Given the description of an element on the screen output the (x, y) to click on. 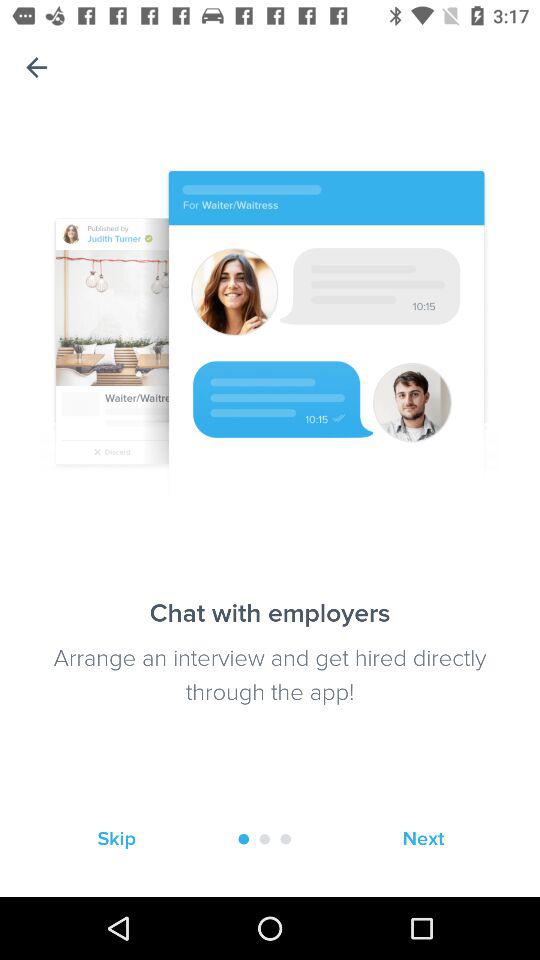
click next icon (423, 838)
